Given the description of an element on the screen output the (x, y) to click on. 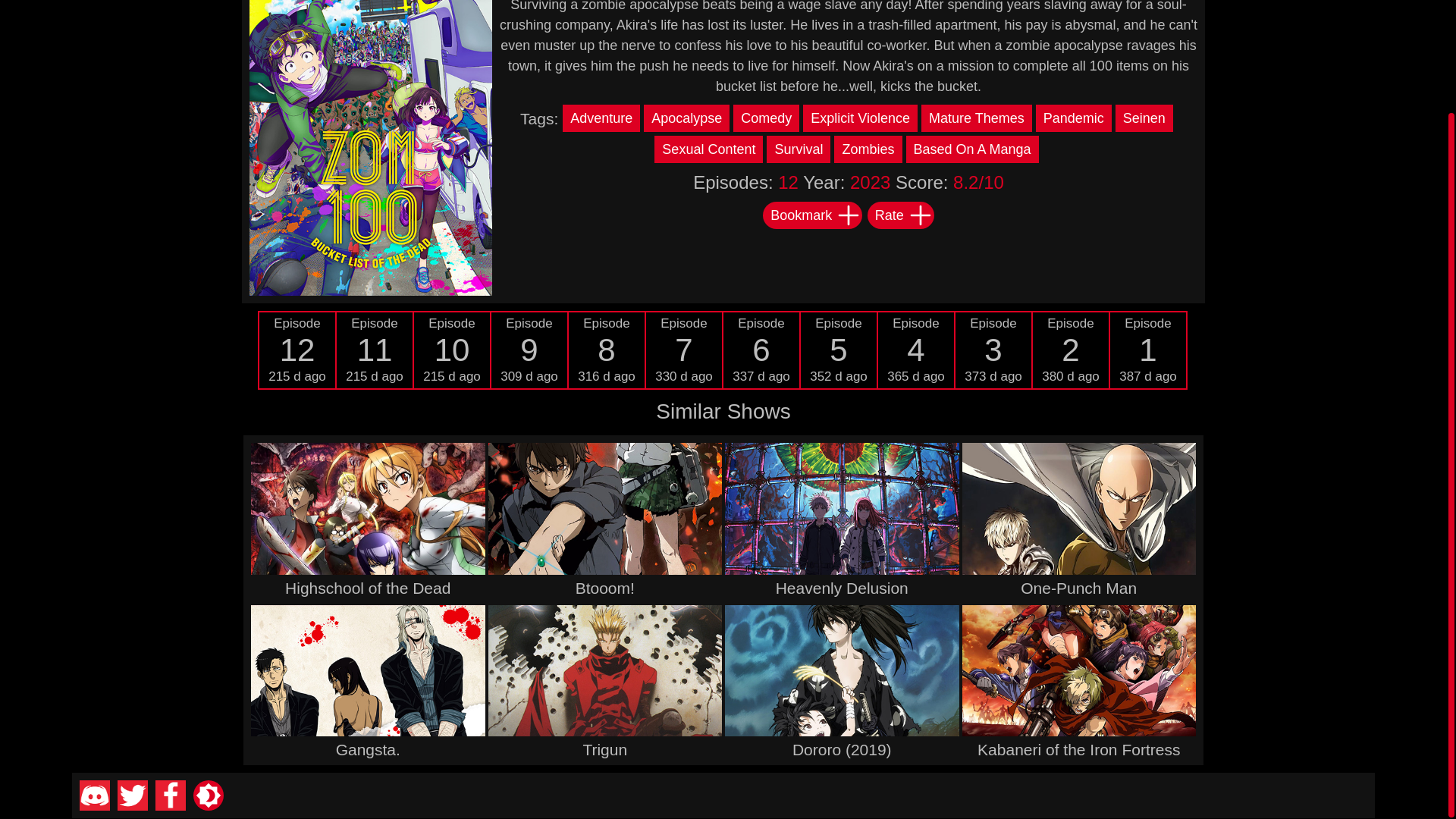
Survival (800, 149)
Pandemic (761, 348)
Seinen (1075, 118)
Sexual Content (1145, 118)
Comedy (838, 348)
Zombies (374, 348)
Highschool of the Dead (297, 348)
Adventure (710, 149)
Mature Themes (1148, 348)
